Given the description of an element on the screen output the (x, y) to click on. 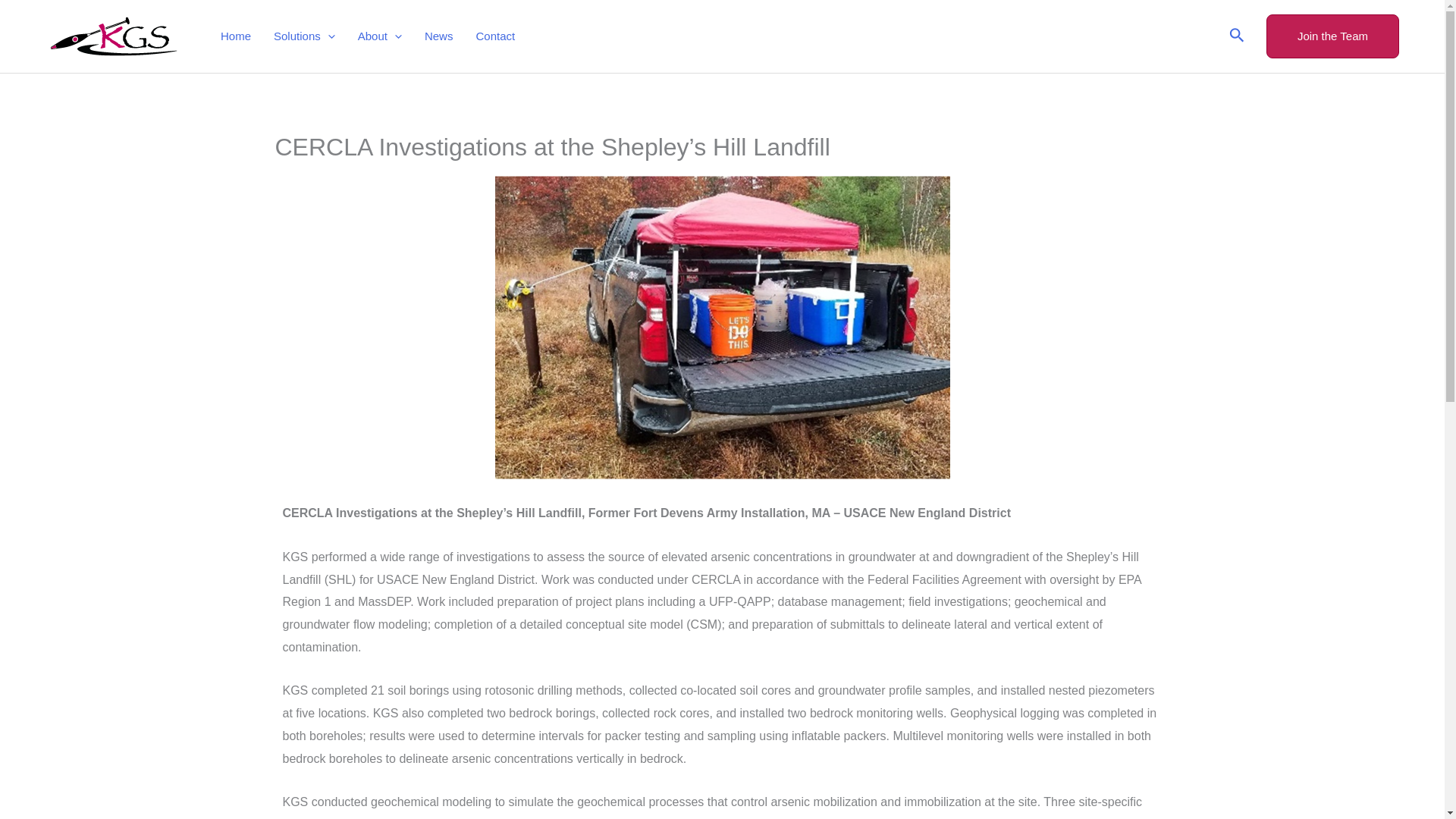
Solutions (304, 36)
Join the Team (1332, 36)
About (379, 36)
